Given the description of an element on the screen output the (x, y) to click on. 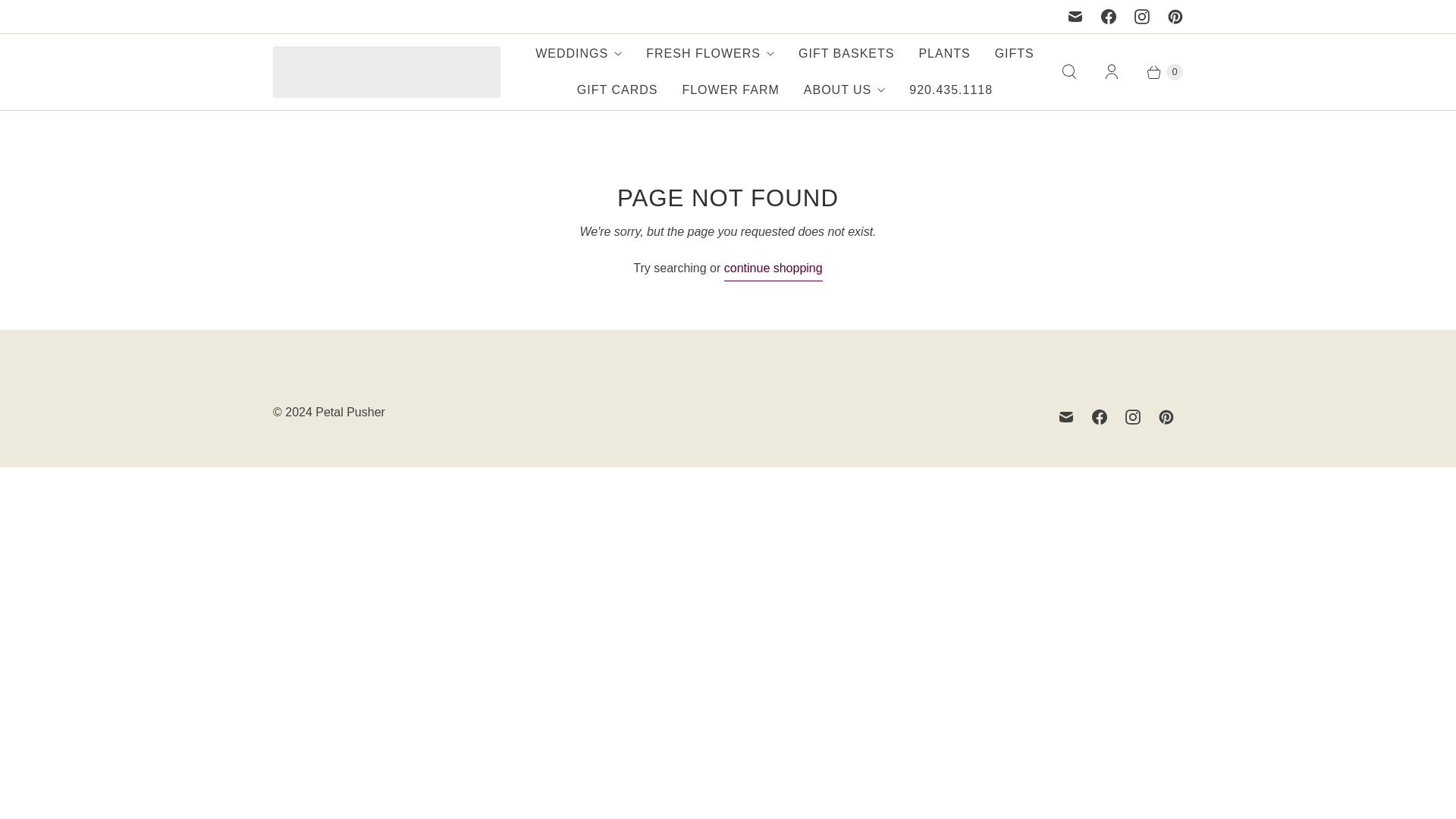
GIFT CARDS (616, 90)
GIFTS (1014, 54)
920.435.1118 (950, 90)
0 (1157, 72)
PLANTS (943, 54)
FLOWER FARM (729, 90)
GIFT BASKETS (845, 54)
